Given the description of an element on the screen output the (x, y) to click on. 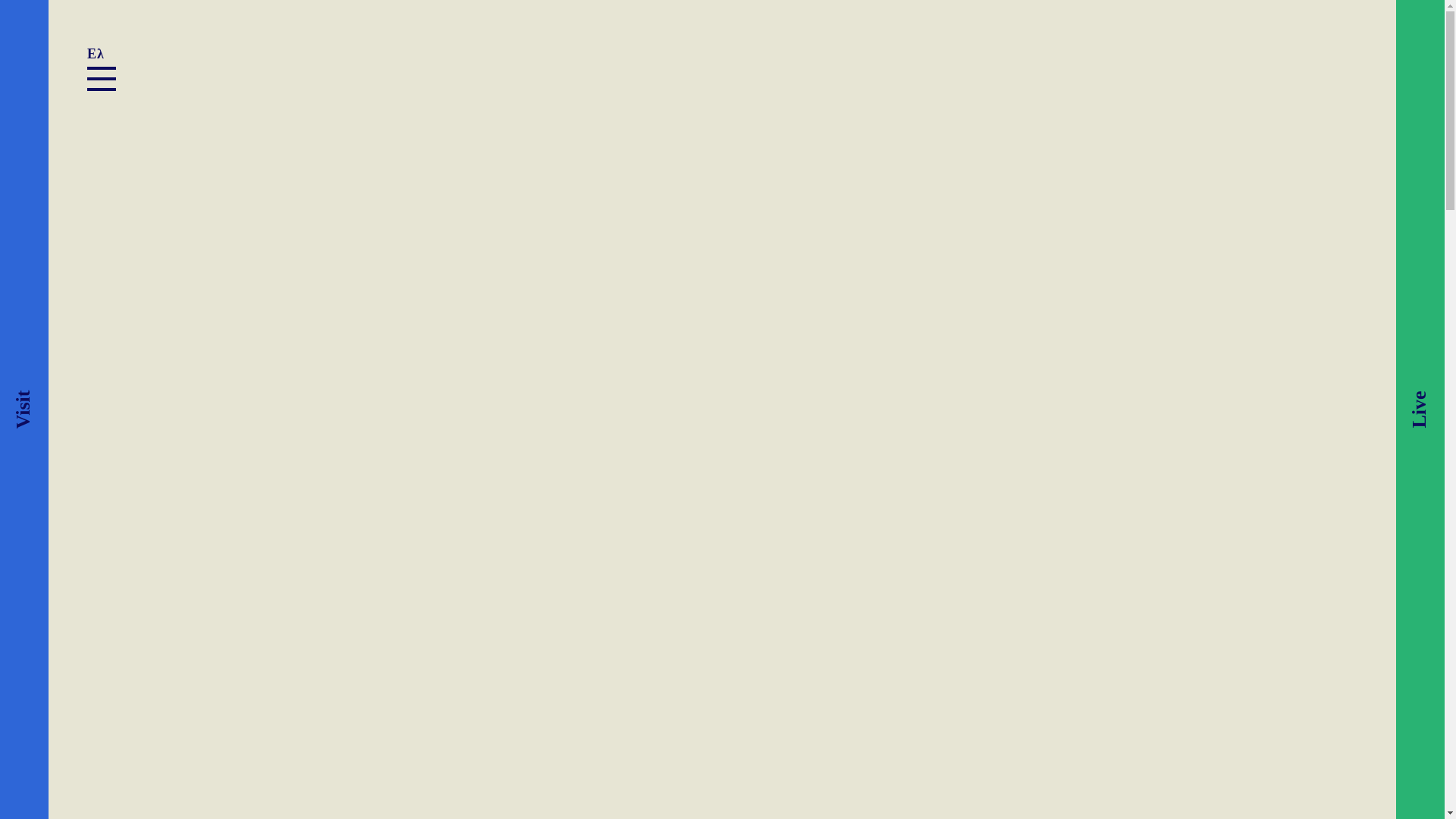
MENU (101, 78)
